Given the description of an element on the screen output the (x, y) to click on. 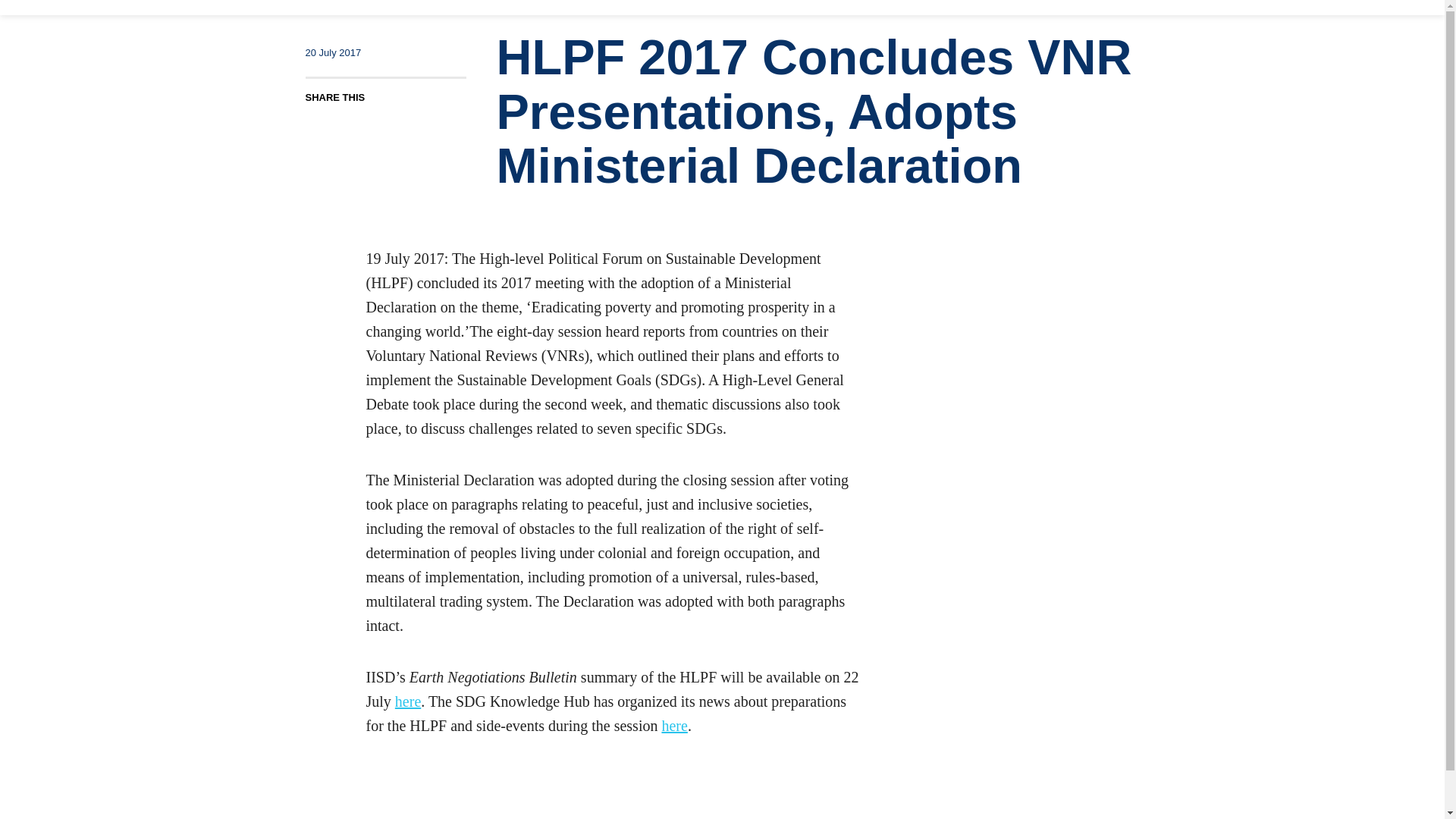
here (674, 725)
here (407, 701)
